Given the description of an element on the screen output the (x, y) to click on. 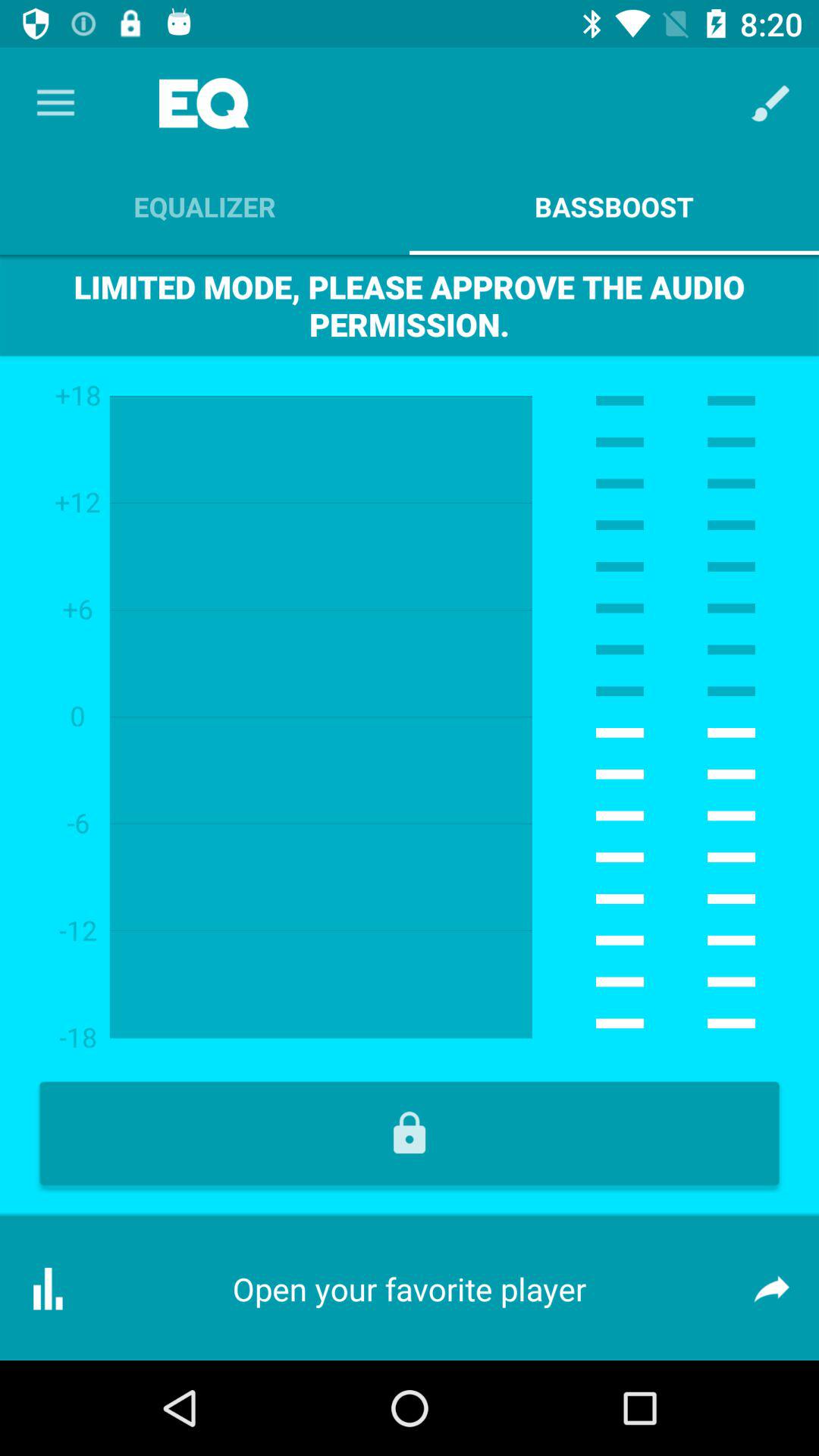
swipe until limited mode please (409, 305)
